Given the description of an element on the screen output the (x, y) to click on. 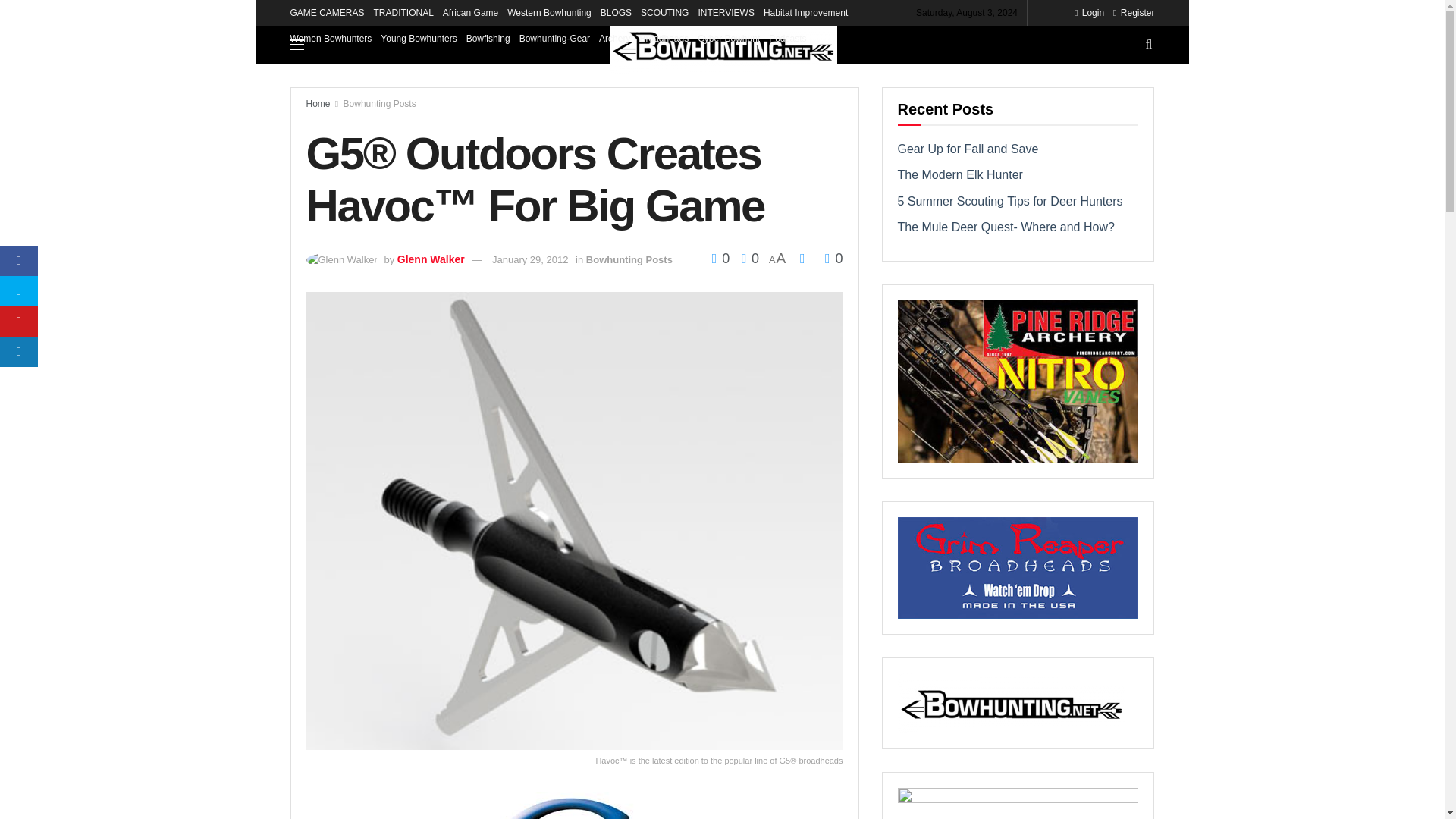
Cyber Bowhunt (728, 38)
Bowfishing (488, 38)
Women Bowhunters (330, 38)
BLOGS (615, 12)
Broadheads (663, 38)
TRADITIONAL (403, 12)
INTERVIEWS (725, 12)
Register (1133, 12)
SCOUTING (664, 12)
Login (1088, 12)
GAME CAMERAS (326, 12)
Podcasts (787, 38)
Young Bowhunters (418, 38)
Bowhunting-Gear (554, 38)
Western Bowhunting (548, 12)
